Given the description of an element on the screen output the (x, y) to click on. 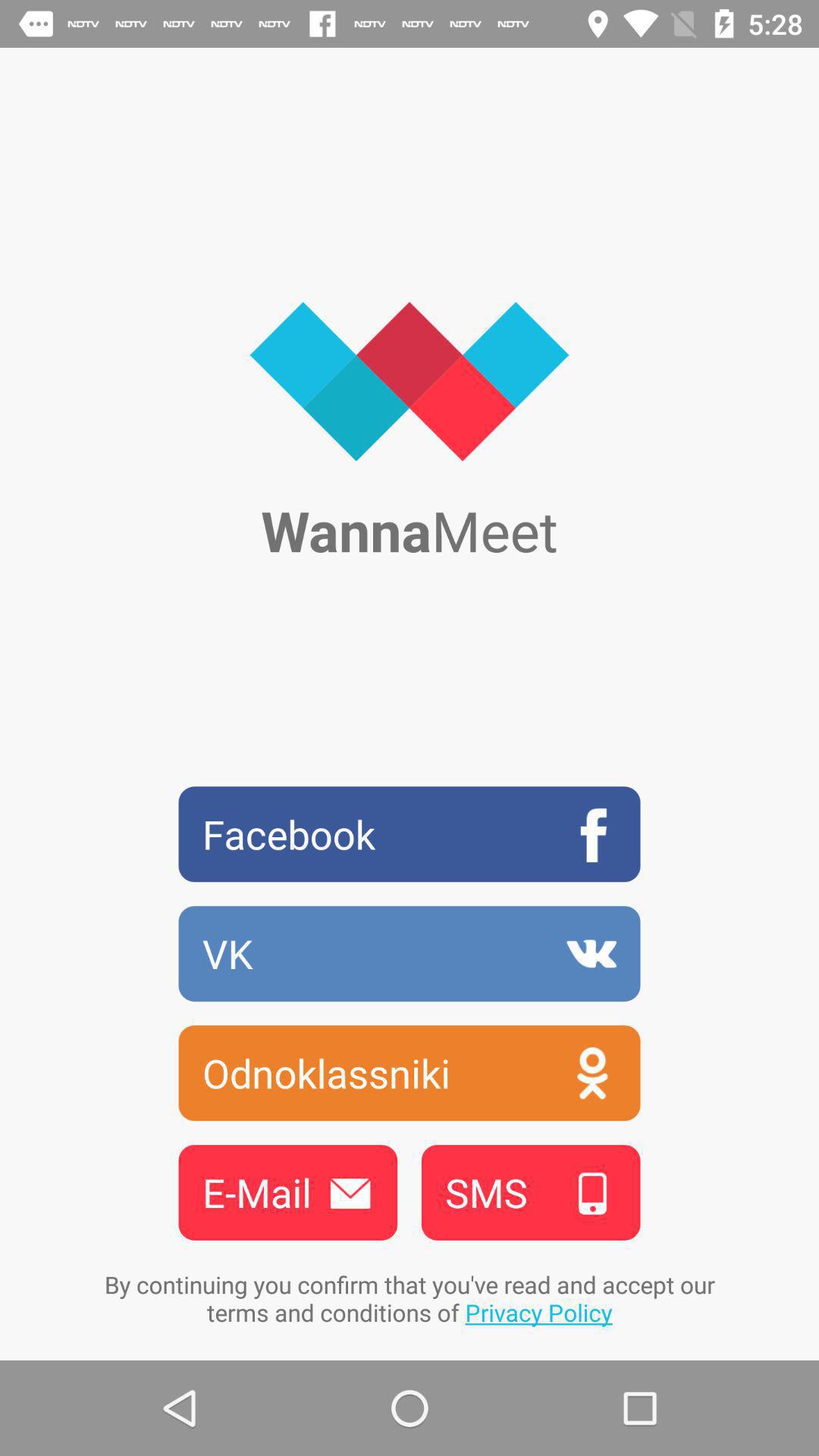
press the item below vk icon (409, 1072)
